Given the description of an element on the screen output the (x, y) to click on. 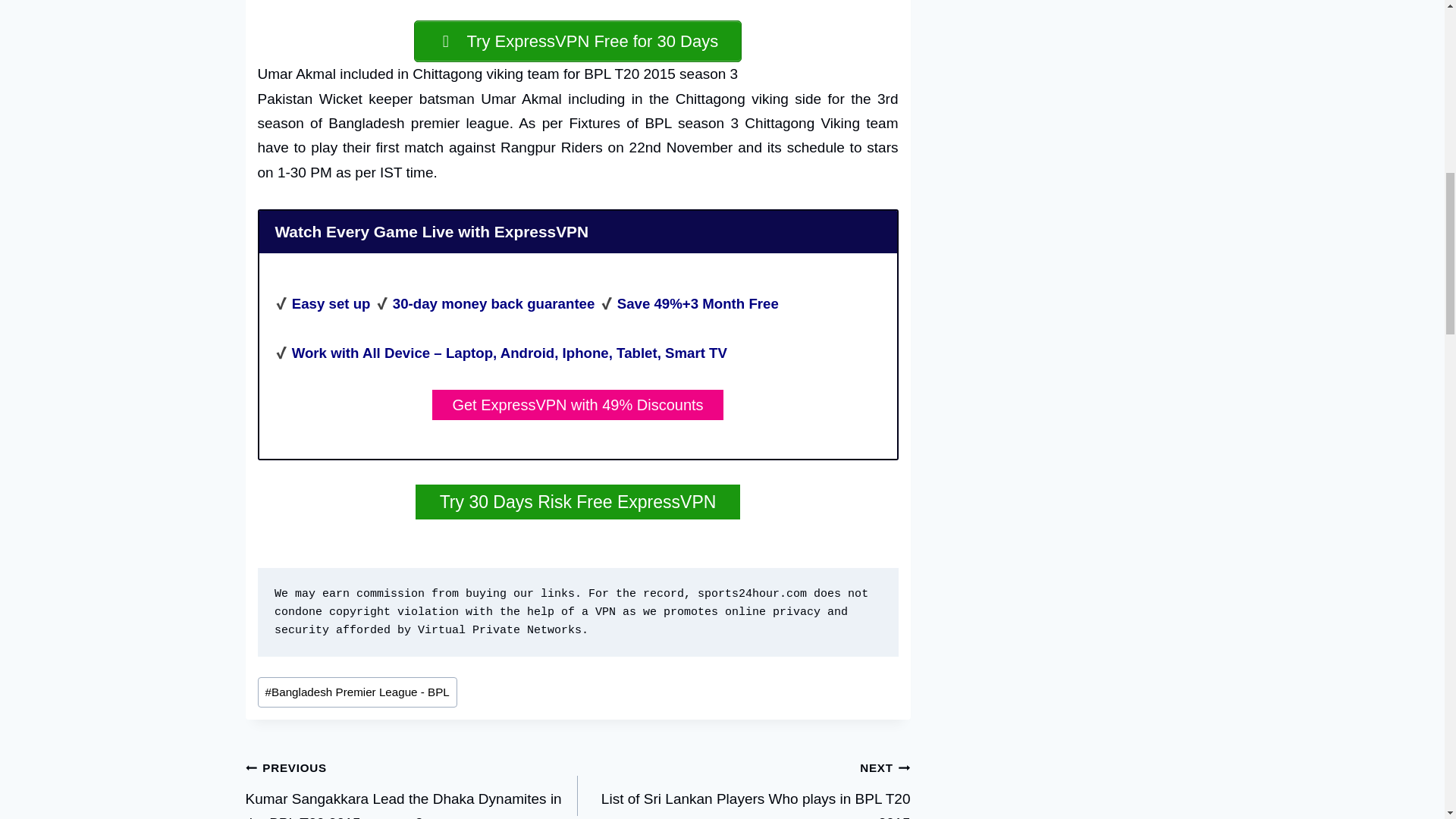
Try ExpressVPN Free for 30 Days (744, 787)
Try 30 Days Risk Free ExpressVPN (577, 41)
Bangladesh Premier League - BPL (577, 501)
